Given the description of an element on the screen output the (x, y) to click on. 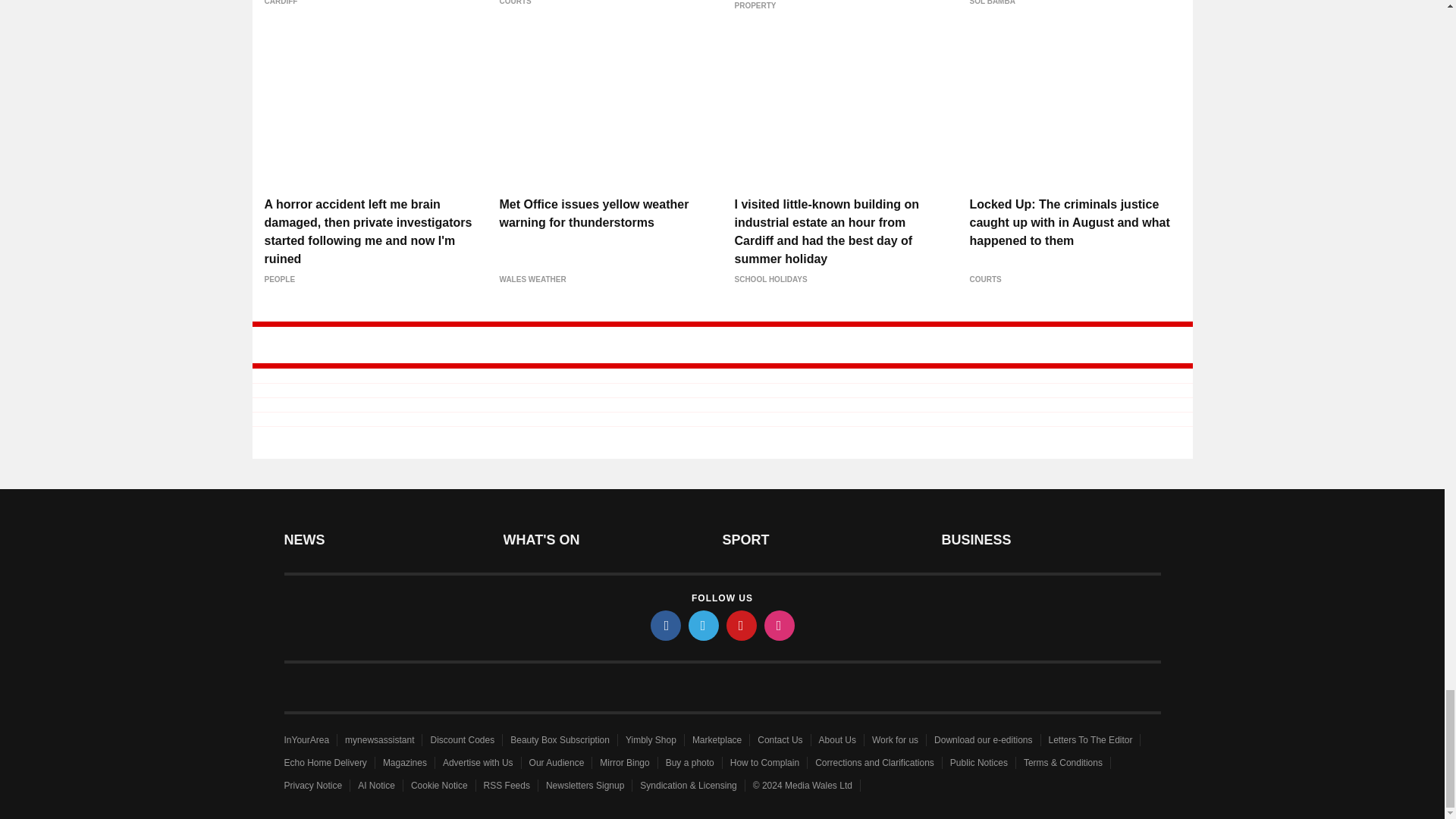
pinterest (741, 625)
twitter (703, 625)
instagram (779, 625)
facebook (665, 625)
